Given the description of an element on the screen output the (x, y) to click on. 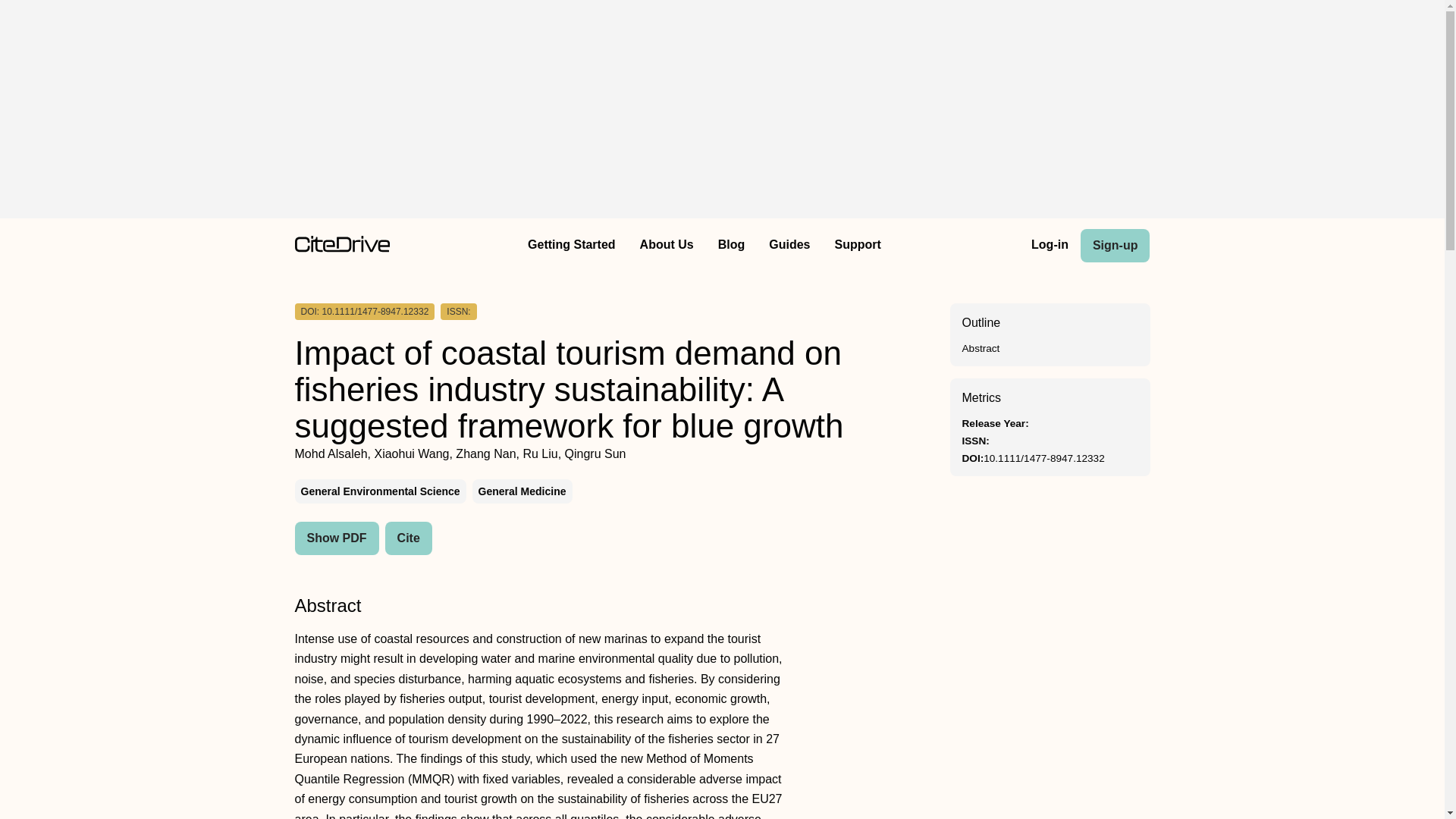
Abstract (979, 348)
Show PDF (336, 538)
Support (857, 245)
Log-in (1049, 245)
Guides (789, 245)
Blog (731, 245)
Sign-up (1115, 245)
Cite (408, 538)
About Us (666, 245)
